Given the description of an element on the screen output the (x, y) to click on. 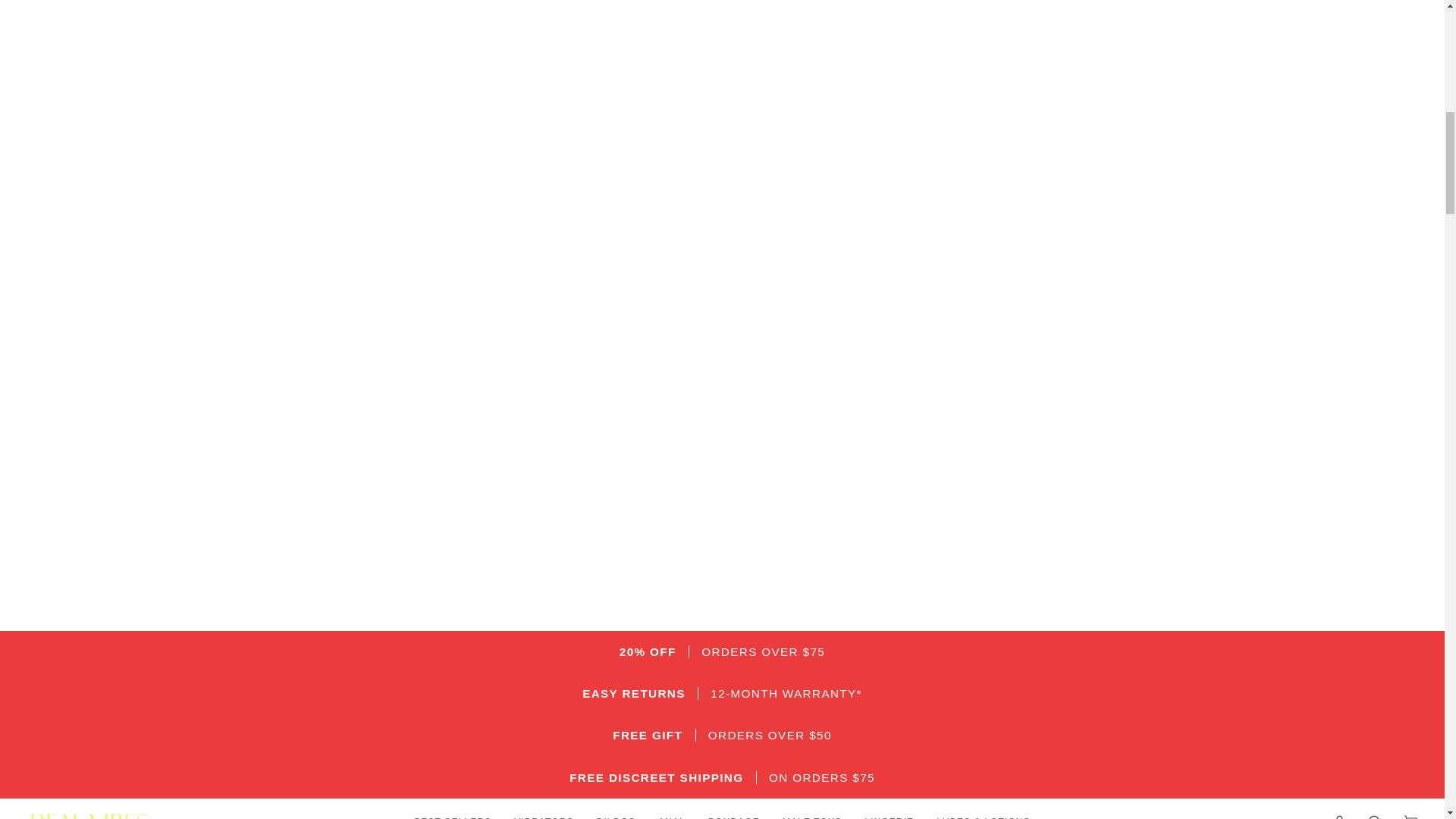
BEST SELLERS (452, 808)
DILDOS (615, 808)
ANAL (671, 808)
BONDAGE (734, 808)
VIBRATORS (543, 808)
